Given the description of an element on the screen output the (x, y) to click on. 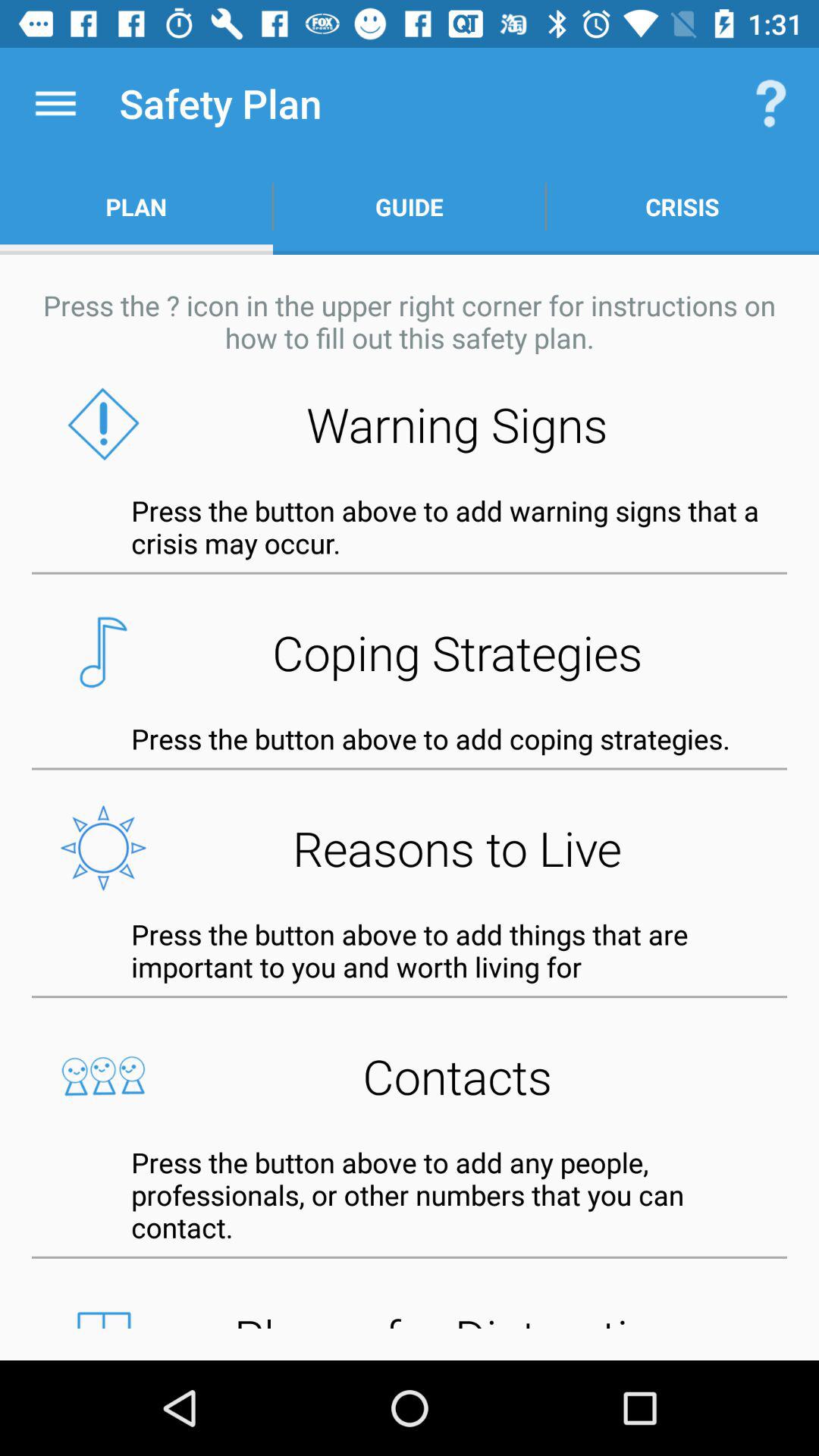
flip until contacts icon (409, 1075)
